Given the description of an element on the screen output the (x, y) to click on. 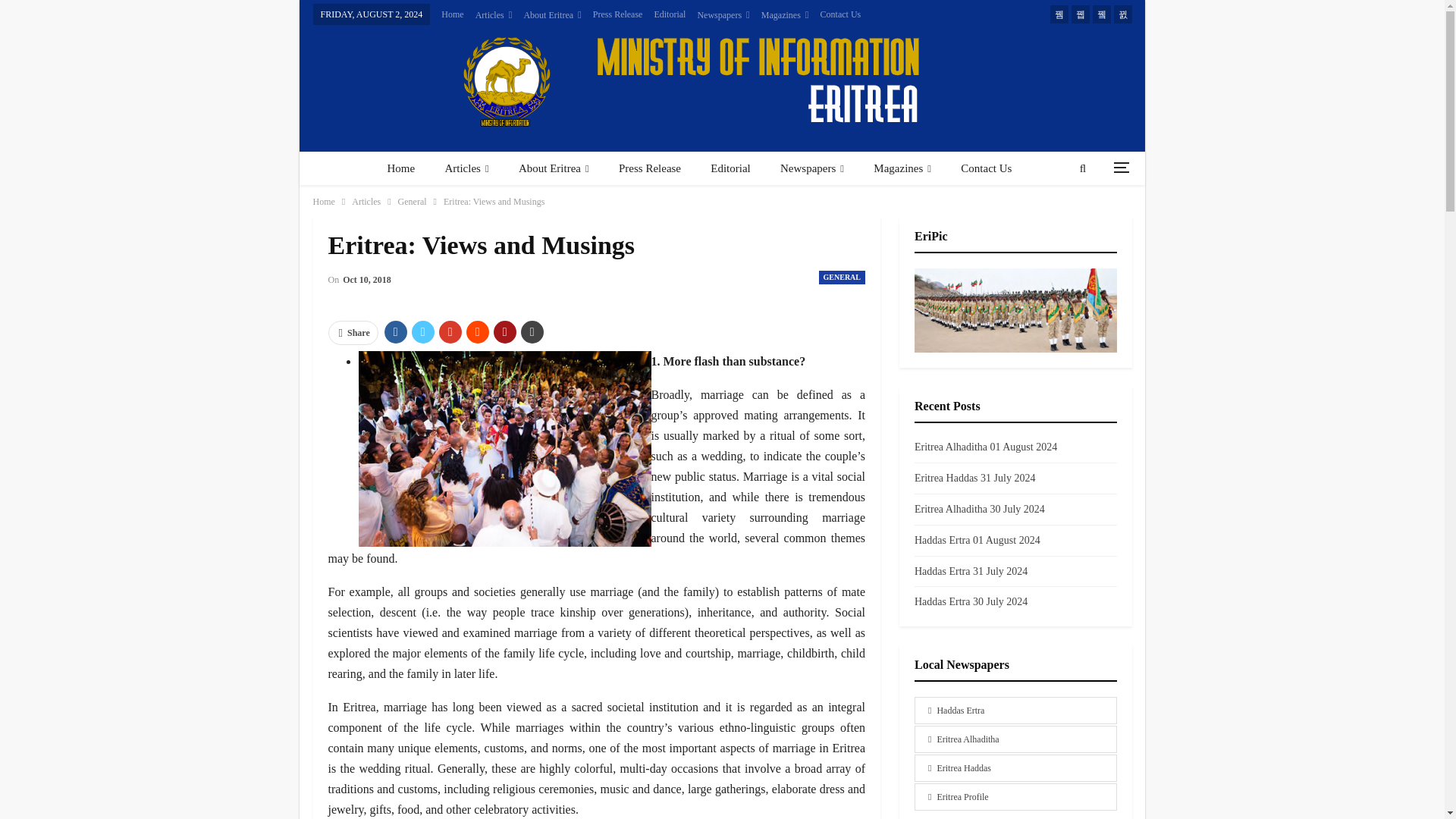
Press Release (617, 14)
Newspapers (723, 14)
Articles (494, 14)
Home (452, 14)
Magazines (785, 14)
Editorial (669, 14)
Articles (466, 168)
About Eritrea (551, 14)
Contact Us (841, 14)
Home (400, 168)
